Given the description of an element on the screen output the (x, y) to click on. 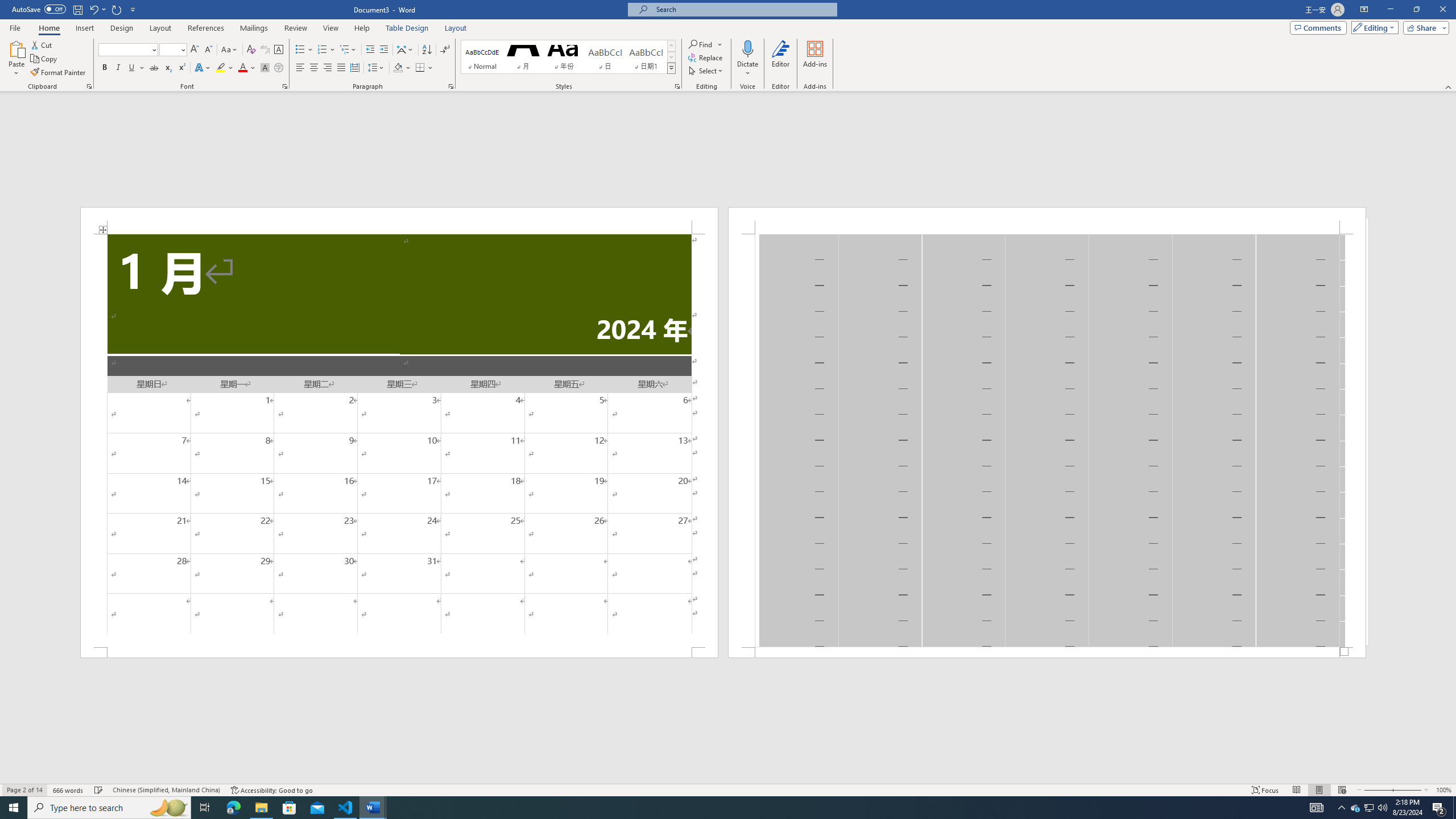
Justify (340, 67)
Copy (45, 58)
Align Right (327, 67)
Enclose Characters... (278, 67)
Shading RGB(0, 0, 0) (397, 67)
Styles (670, 67)
Class: NetUIScrollBar (728, 778)
